Given the description of an element on the screen output the (x, y) to click on. 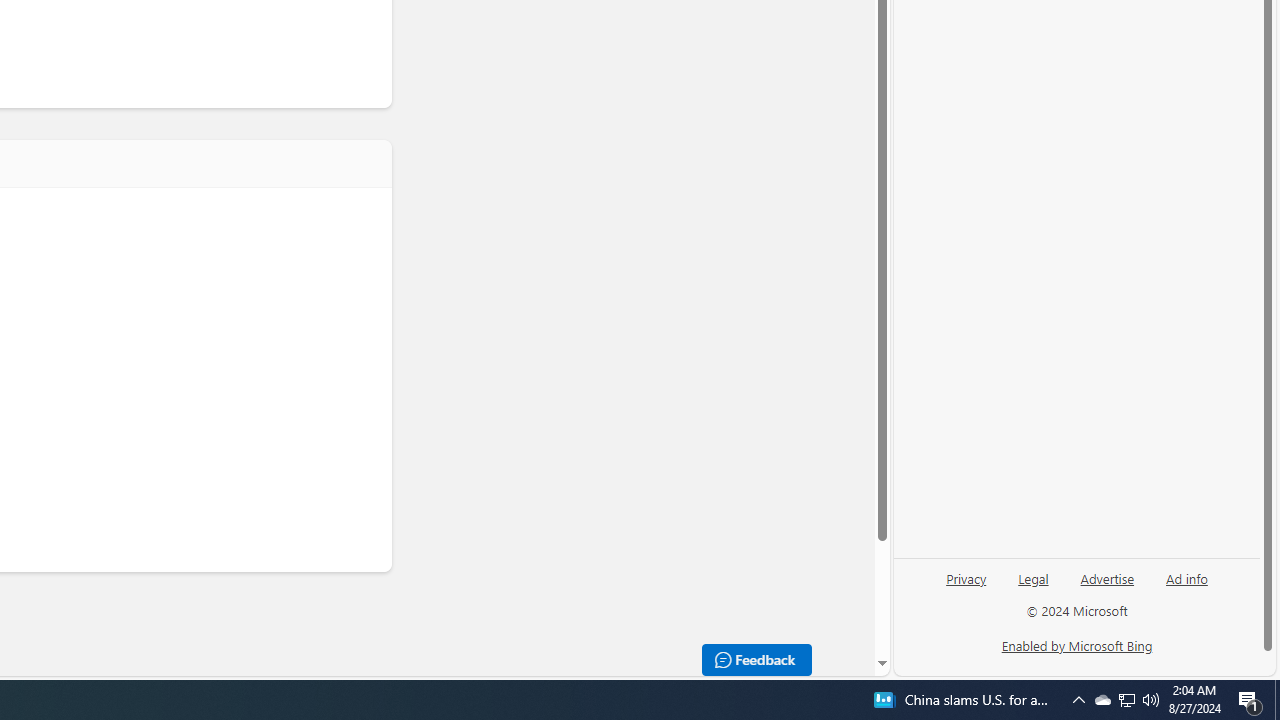
Privacy & cookies (199, 646)
